Given the description of an element on the screen output the (x, y) to click on. 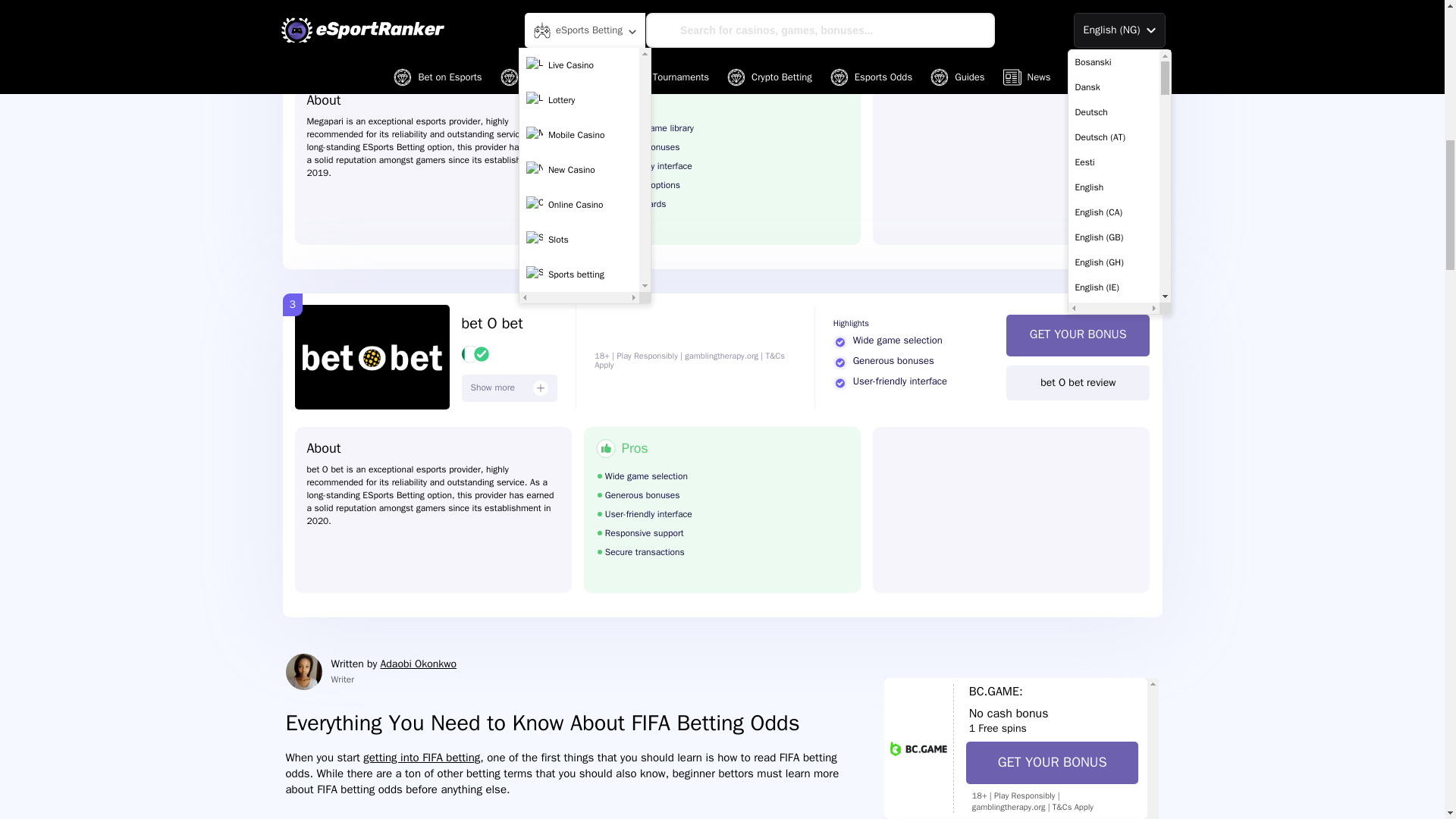
Hrvatski (1113, 3)
